Given the description of an element on the screen output the (x, y) to click on. 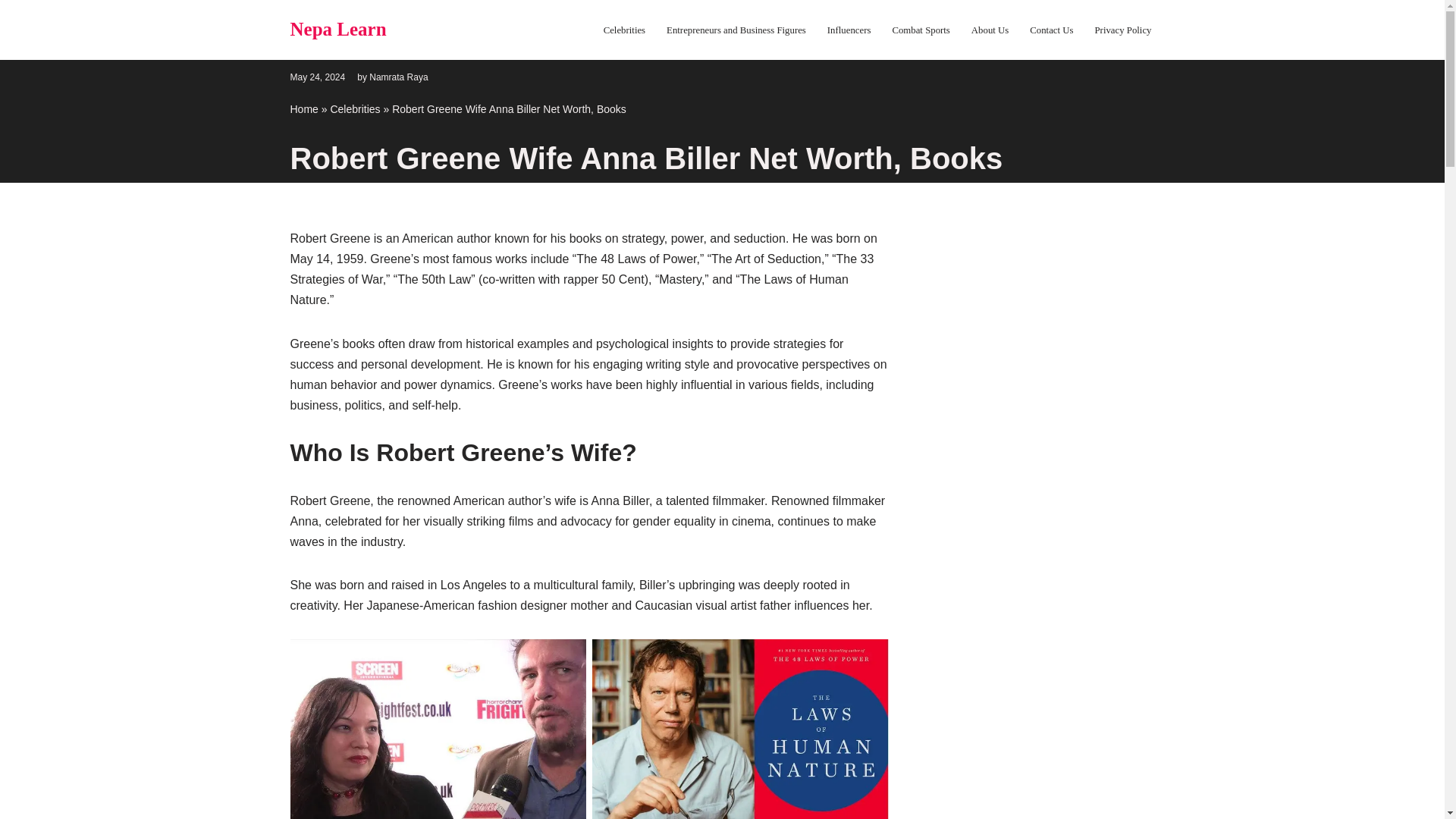
Posts by Namrata Raya (398, 76)
Contact Us (1051, 29)
Entrepreneurs and Business Figures (736, 29)
Home (303, 109)
About Us (990, 29)
Namrata Raya (398, 76)
Celebrities (624, 29)
Combat Sports (920, 29)
Celebrities (355, 109)
Nepa Learn (337, 29)
